Given the description of an element on the screen output the (x, y) to click on. 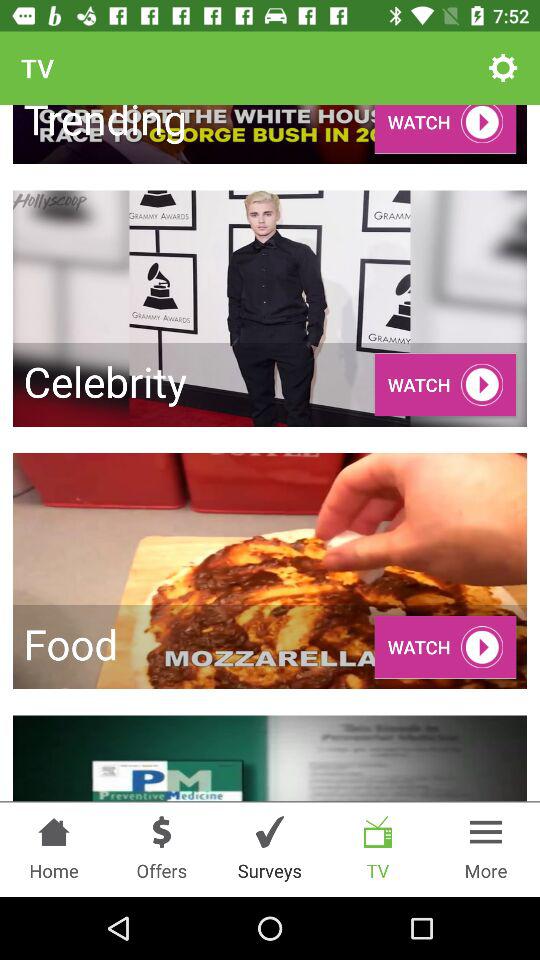
press the icon to the right of tv icon (503, 67)
